Given the description of an element on the screen output the (x, y) to click on. 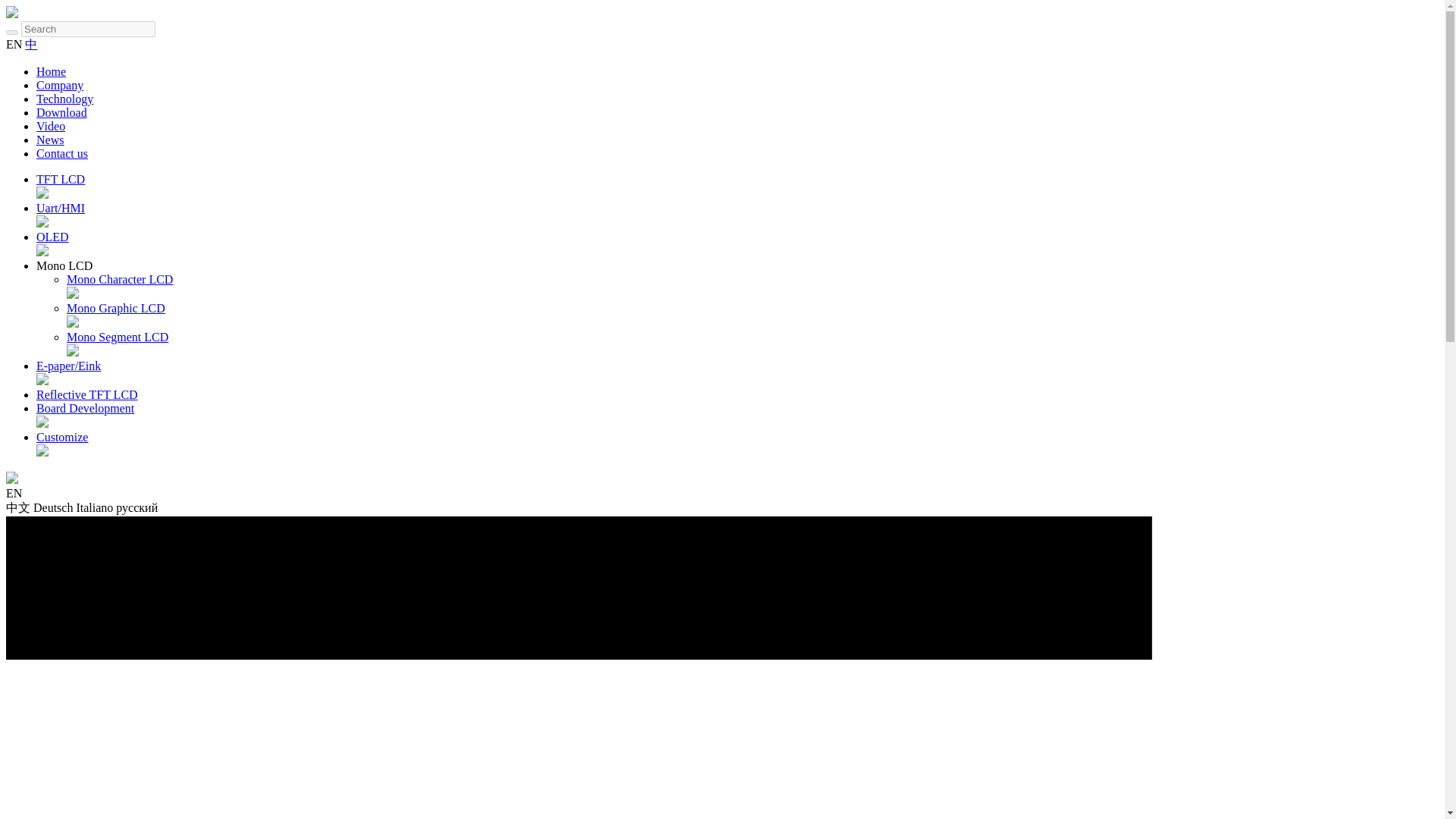
Customize (61, 436)
Contact us (61, 153)
Mono Character LCD (119, 278)
EN (13, 43)
Deutsch (52, 507)
Home (50, 71)
Mono Segment LCD (117, 336)
Video (50, 125)
Reflective TFT LCD (87, 394)
TFT LCD (60, 178)
